Given the description of an element on the screen output the (x, y) to click on. 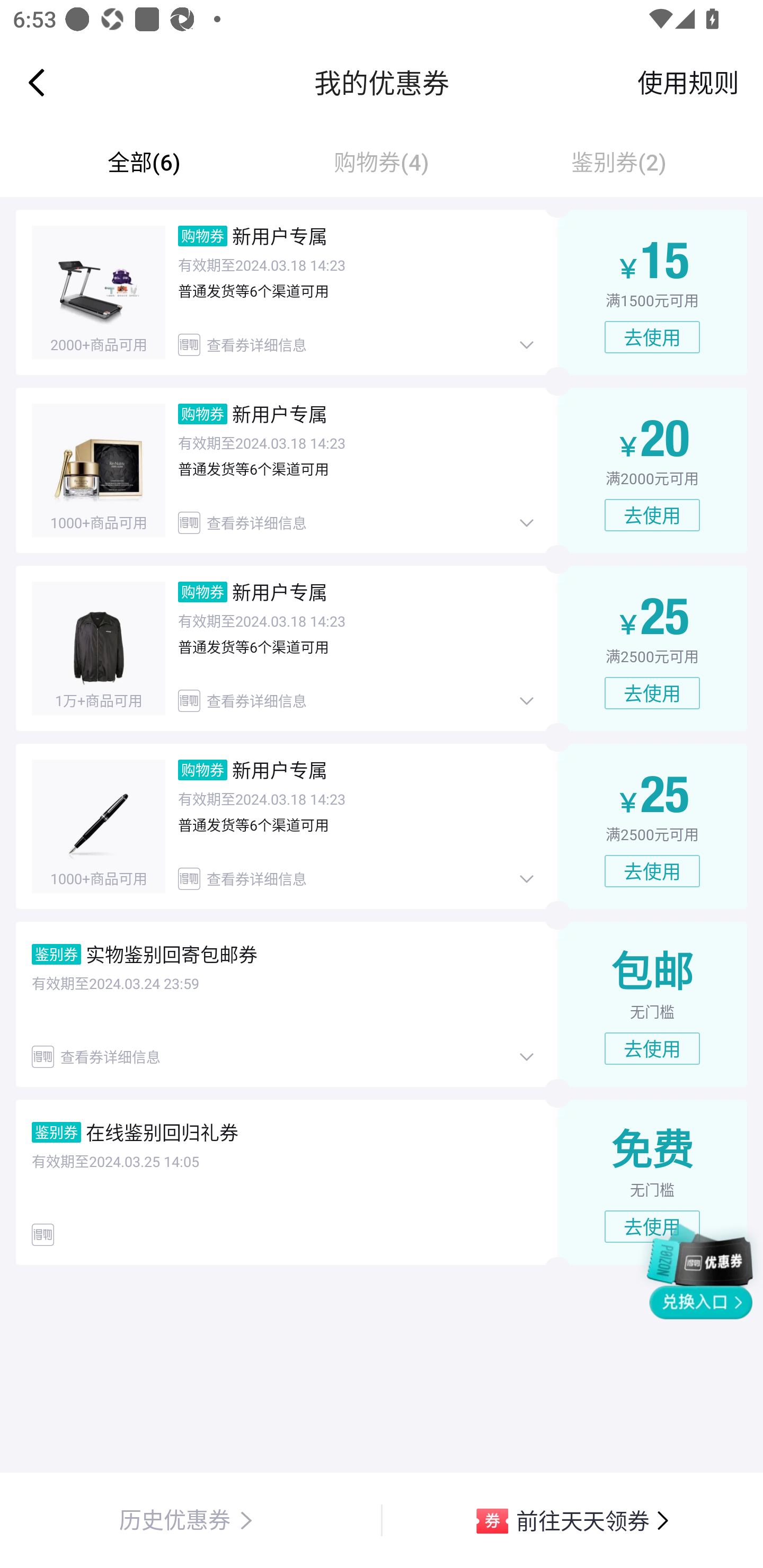
Navigate up (36, 82)
使用规则 (688, 82)
购物券(4) (381, 162)
鉴别券(2) (618, 162)
去使用 (651, 336)
查看券详细信息 (357, 344)
去使用 (651, 514)
查看券详细信息 (357, 522)
去使用 (651, 692)
查看券详细信息 (357, 700)
去使用 (651, 870)
查看券详细信息 (357, 878)
去使用 (651, 1047)
查看券详细信息 (284, 1056)
鉴别券 在线鉴别回归礼券 有效期至2024.03.25 14:05 免费 无门槛 去使用 (381, 1182)
去使用 (651, 1226)
历史优惠券 (190, 1519)
前往天天领券 (572, 1520)
